Given the description of an element on the screen output the (x, y) to click on. 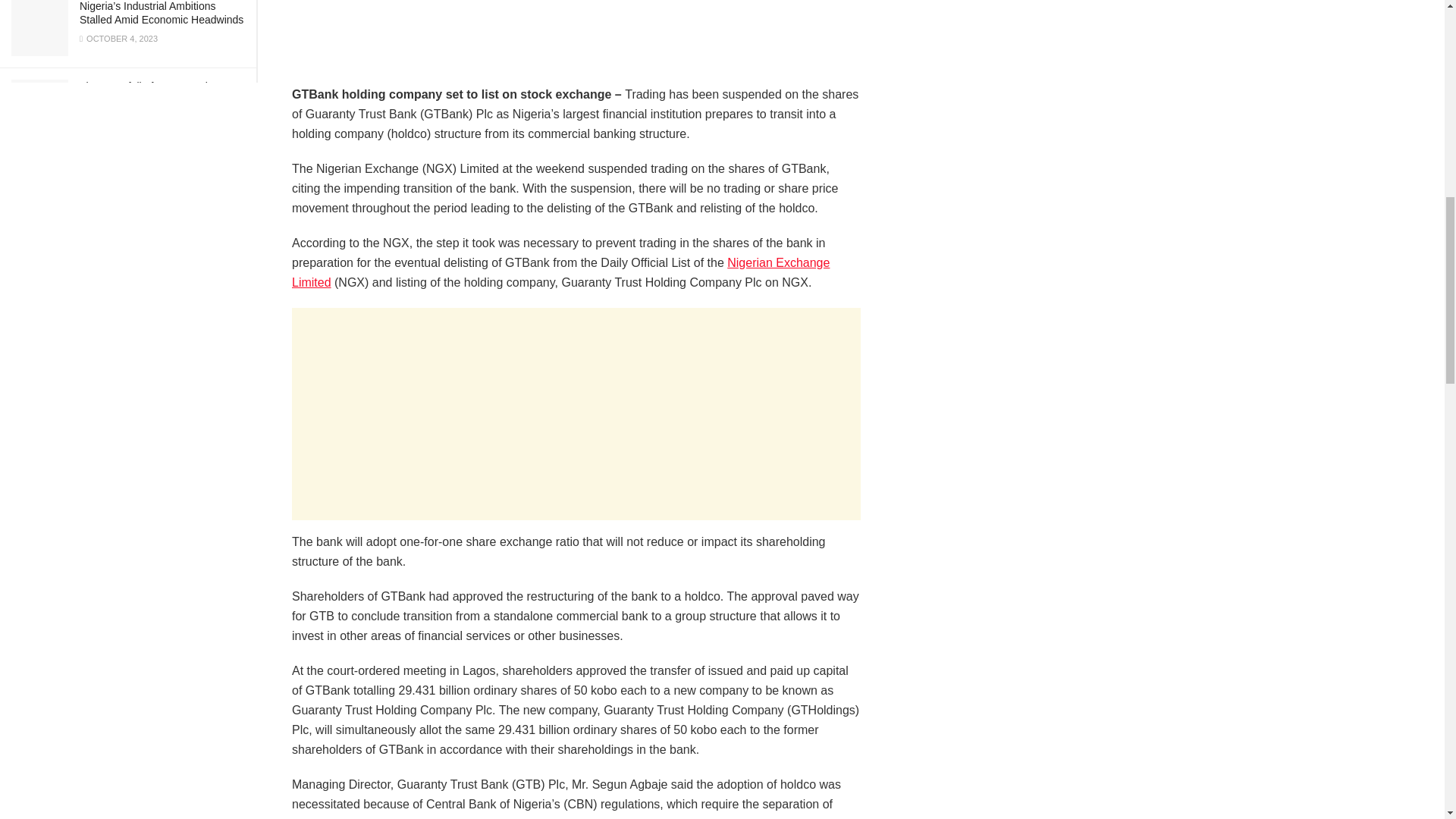
Advertisement (576, 413)
Advertisement (576, 42)
Advertisement (1024, 81)
